Given the description of an element on the screen output the (x, y) to click on. 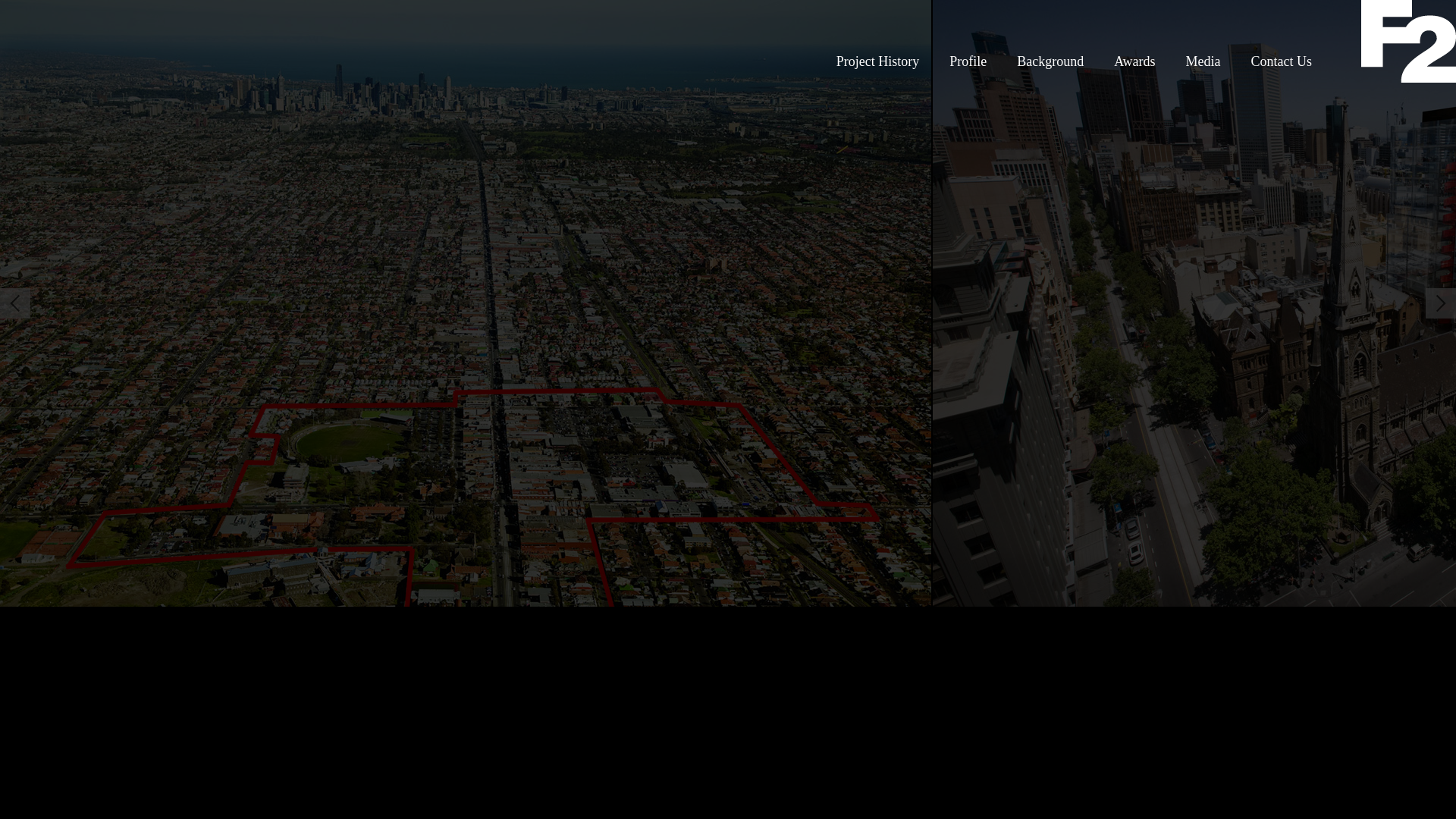
Project History Element type: text (885, 61)
Awards Element type: text (1141, 61)
Contact Us Element type: text (1289, 61)
Background Element type: text (1057, 61)
Profile Element type: text (975, 61)
Media Element type: text (1211, 61)
